Given the description of an element on the screen output the (x, y) to click on. 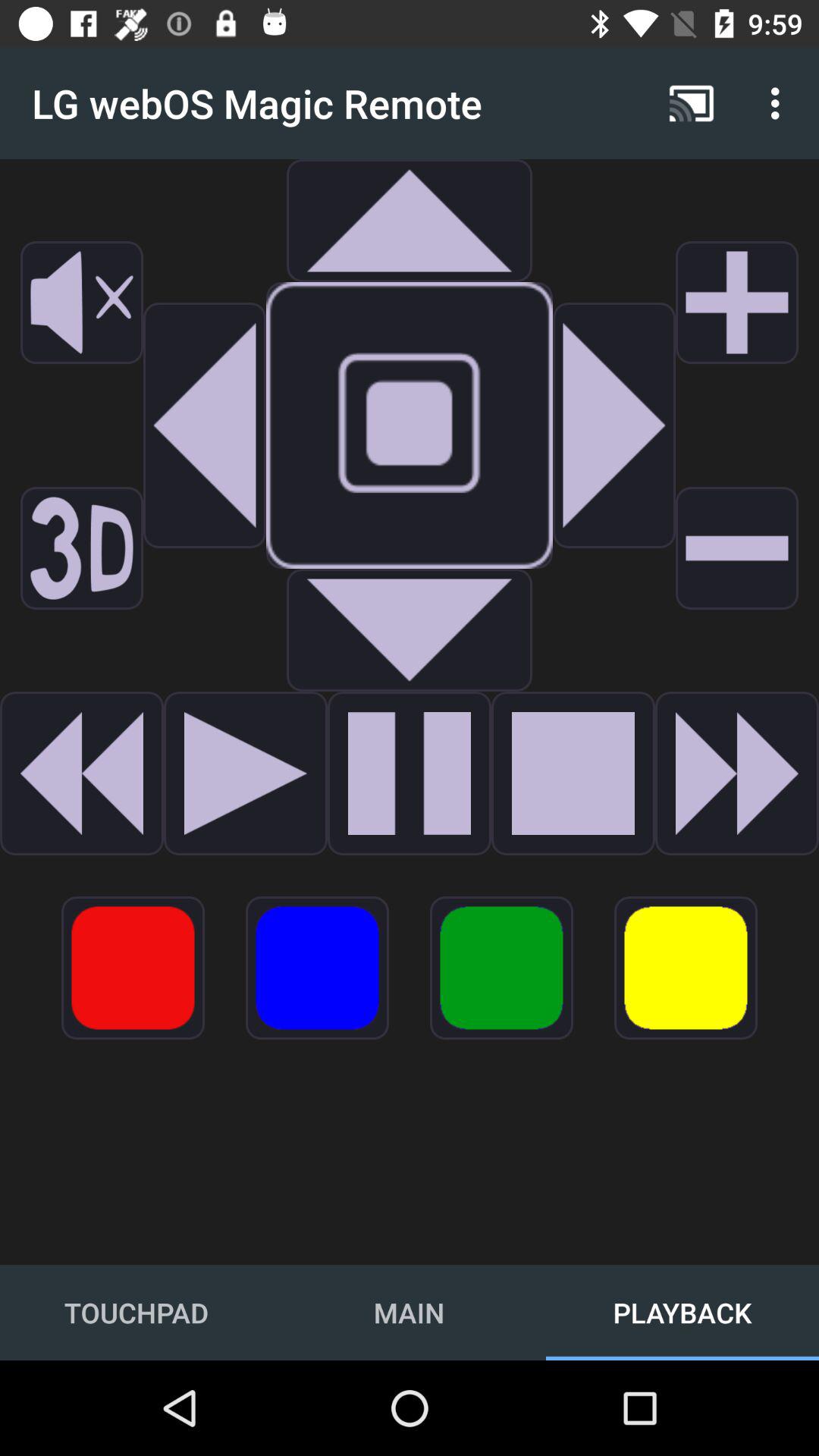
go to previous (81, 773)
